Given the description of an element on the screen output the (x, y) to click on. 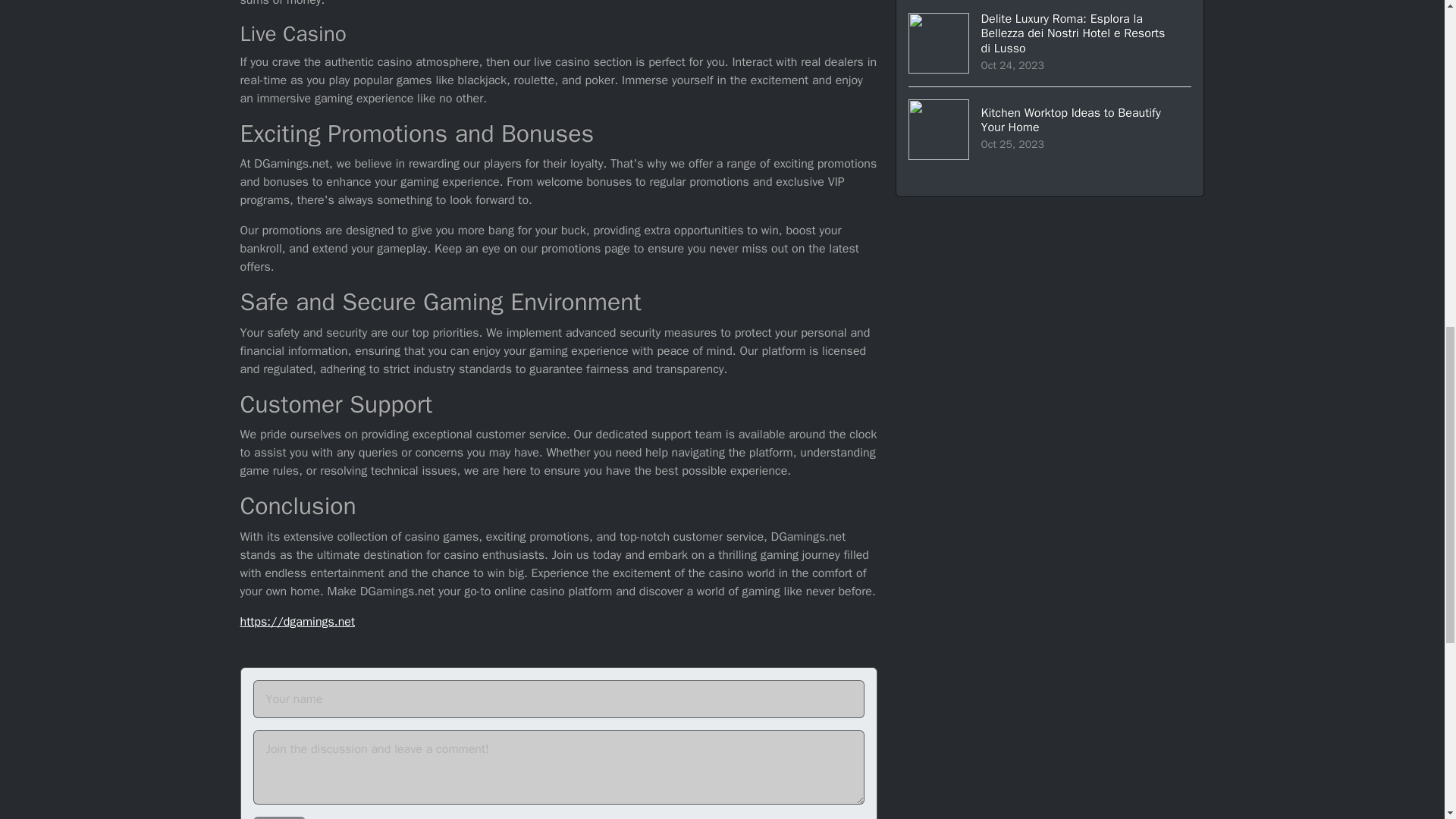
Send (279, 817)
Send (279, 817)
